Given the description of an element on the screen output the (x, y) to click on. 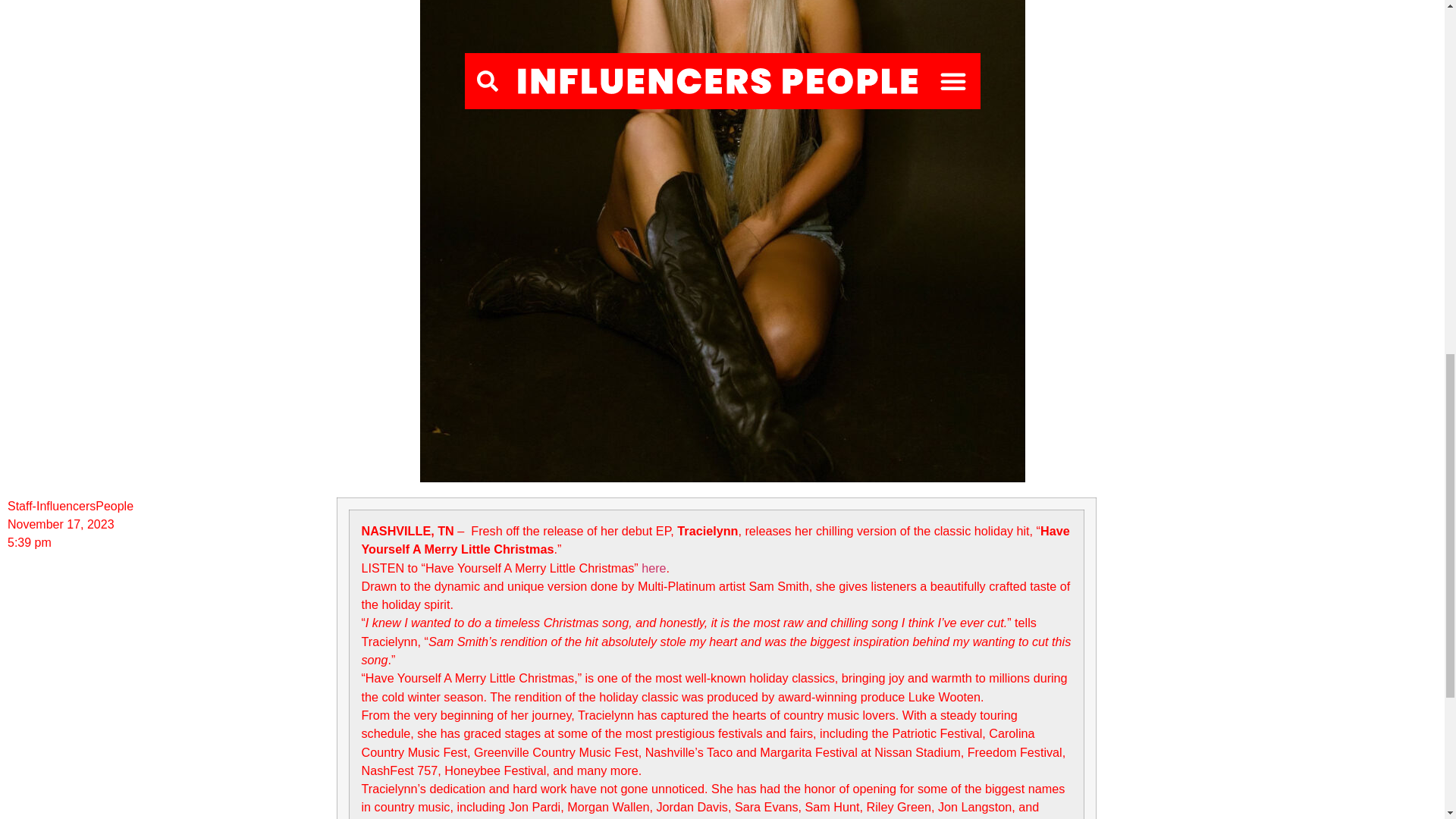
November 17, 2023 (61, 524)
Staff-InfluencersPeople (70, 506)
here (653, 567)
